Given the description of an element on the screen output the (x, y) to click on. 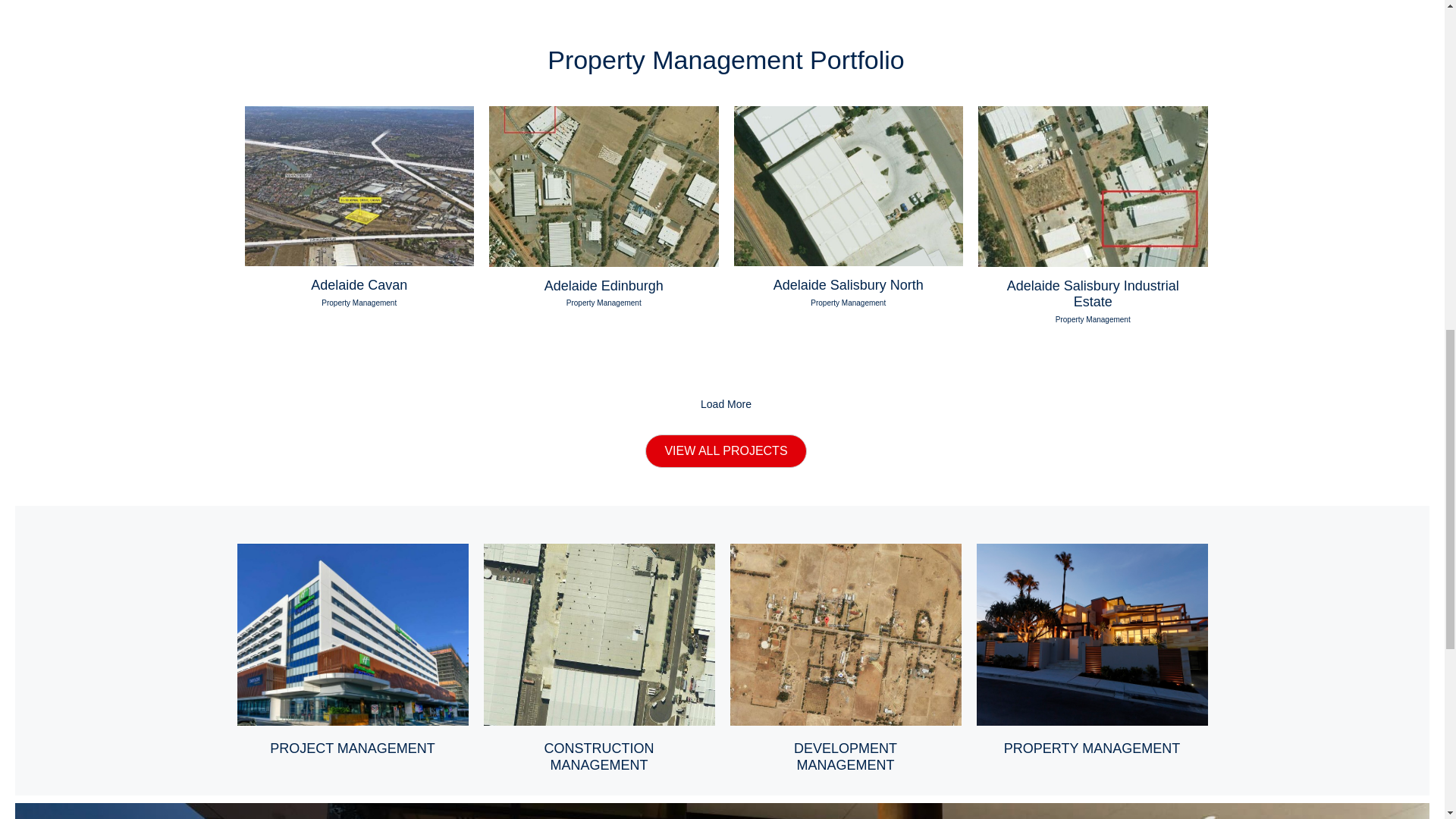
edinburgh (604, 186)
Development Management (844, 551)
Adelaide Edinburgh (603, 285)
Adelaide Salisbury North (848, 284)
Adelaide Salisbury Industrial Estate (1093, 294)
cavan2 (359, 186)
Project Management (351, 551)
playford (1093, 186)
Construction Management (598, 757)
Project Management (352, 748)
